Given the description of an element on the screen output the (x, y) to click on. 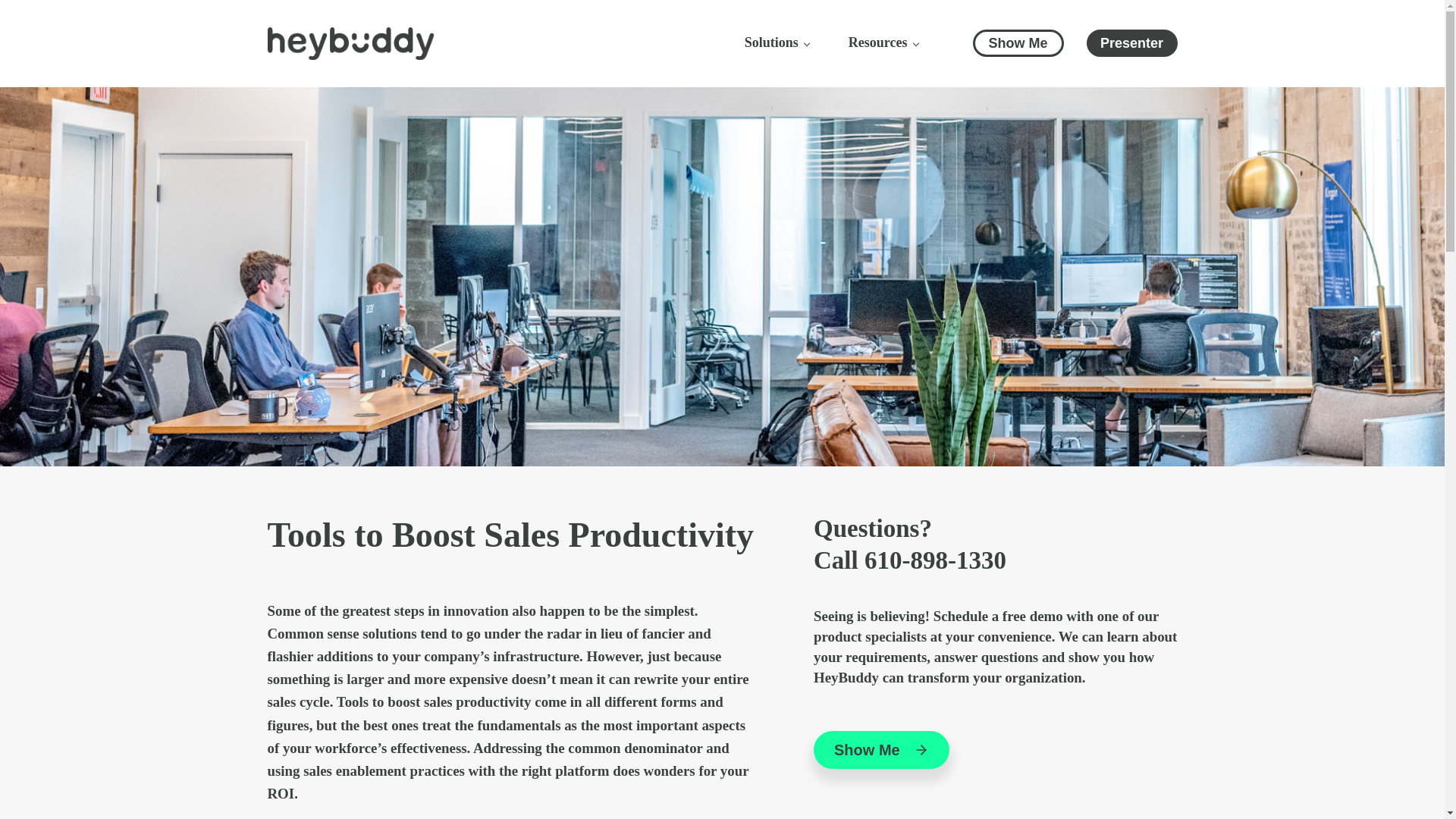
Resources (882, 43)
Show Me (1017, 42)
610-898-1330 (935, 560)
Presenter (1131, 42)
Show Me (881, 750)
Solutions (776, 43)
